Given the description of an element on the screen output the (x, y) to click on. 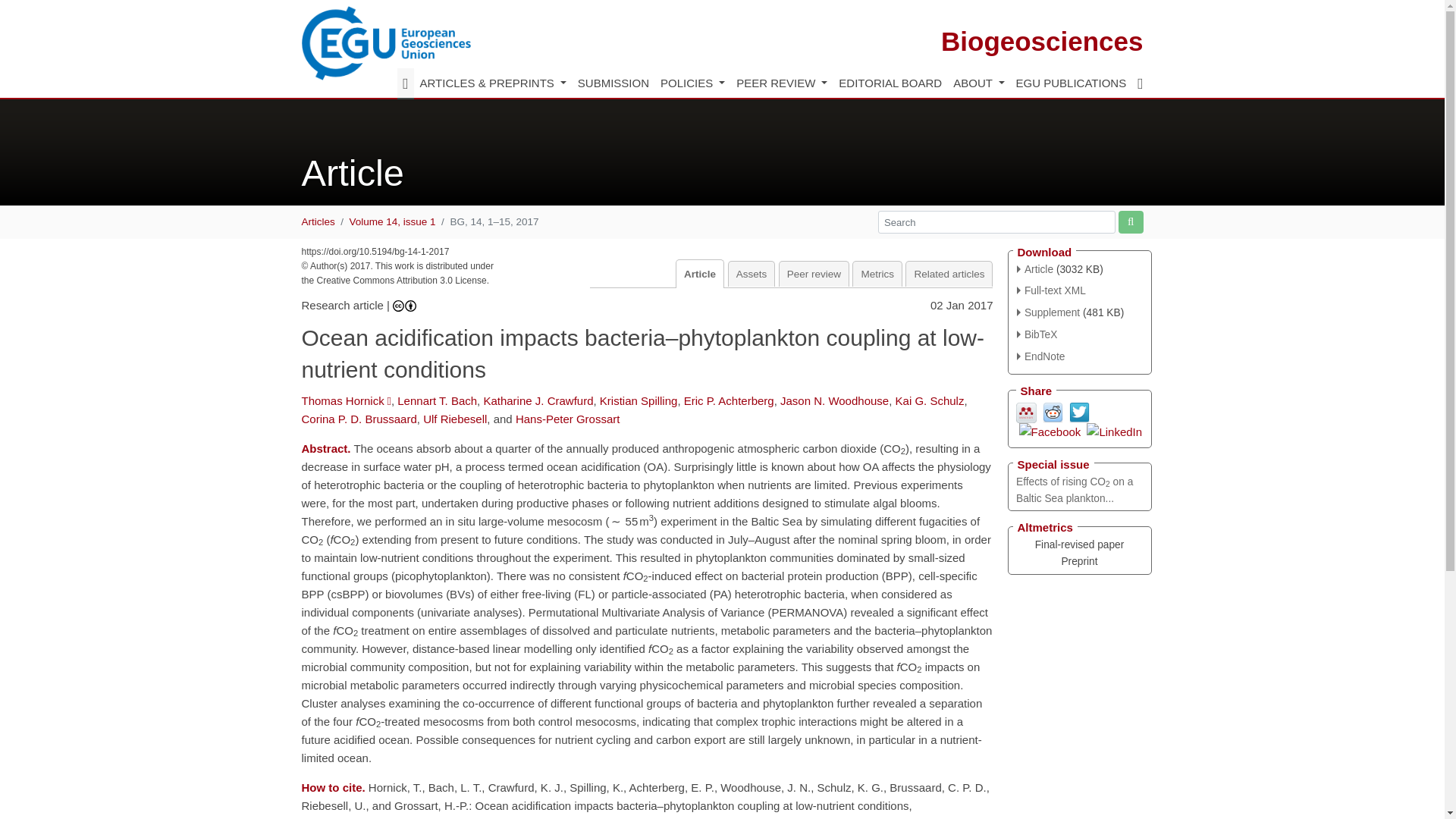
XML Version (1051, 290)
SUBMISSION (612, 83)
Home (405, 83)
PEER REVIEW (781, 83)
Start site search (1130, 221)
Biogeosciences (1041, 41)
Mendeley (1026, 410)
POLICIES (691, 83)
Reddit (1052, 410)
Login (1139, 83)
